Given the description of an element on the screen output the (x, y) to click on. 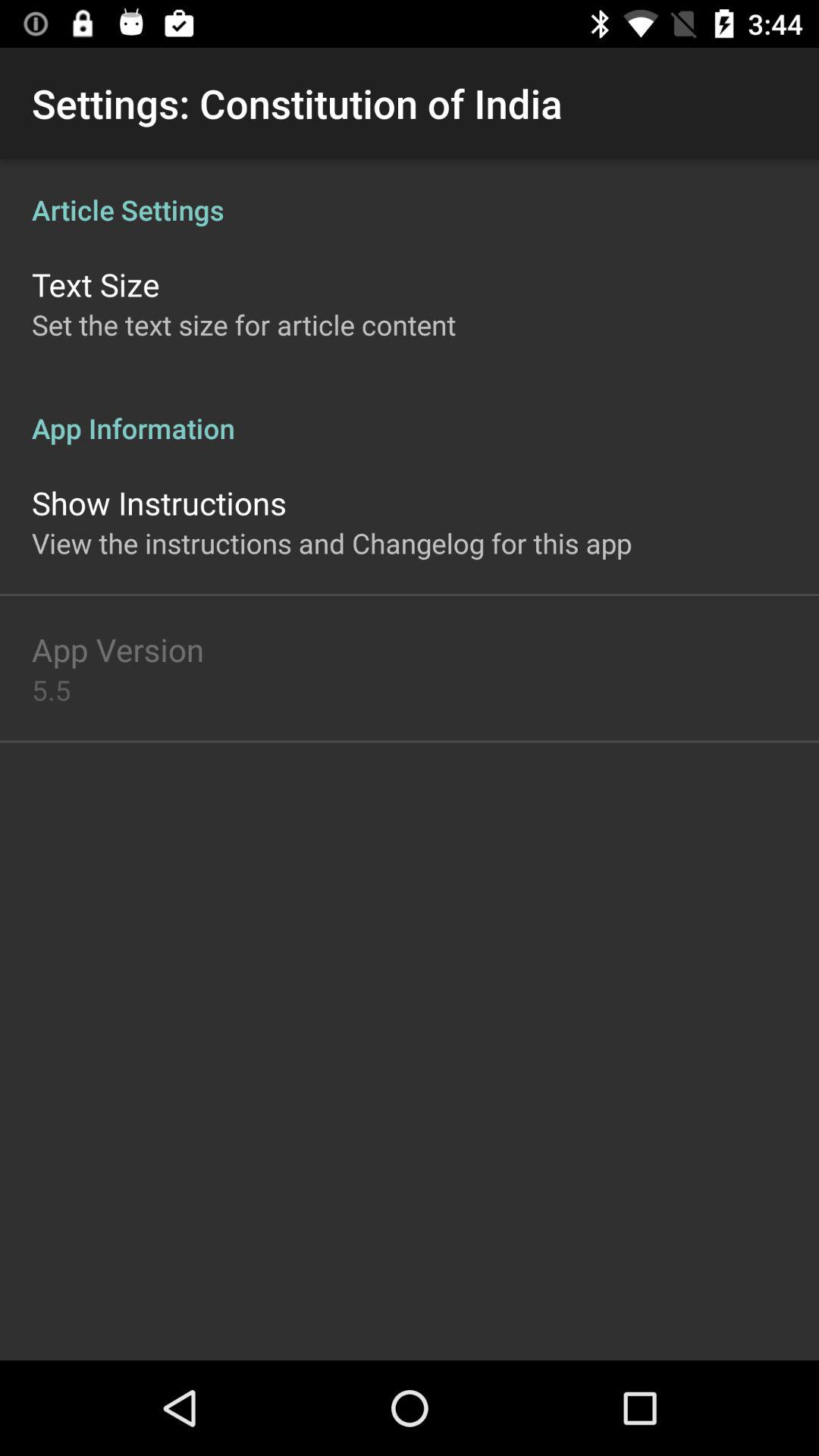
jump until the article settings item (409, 193)
